Given the description of an element on the screen output the (x, y) to click on. 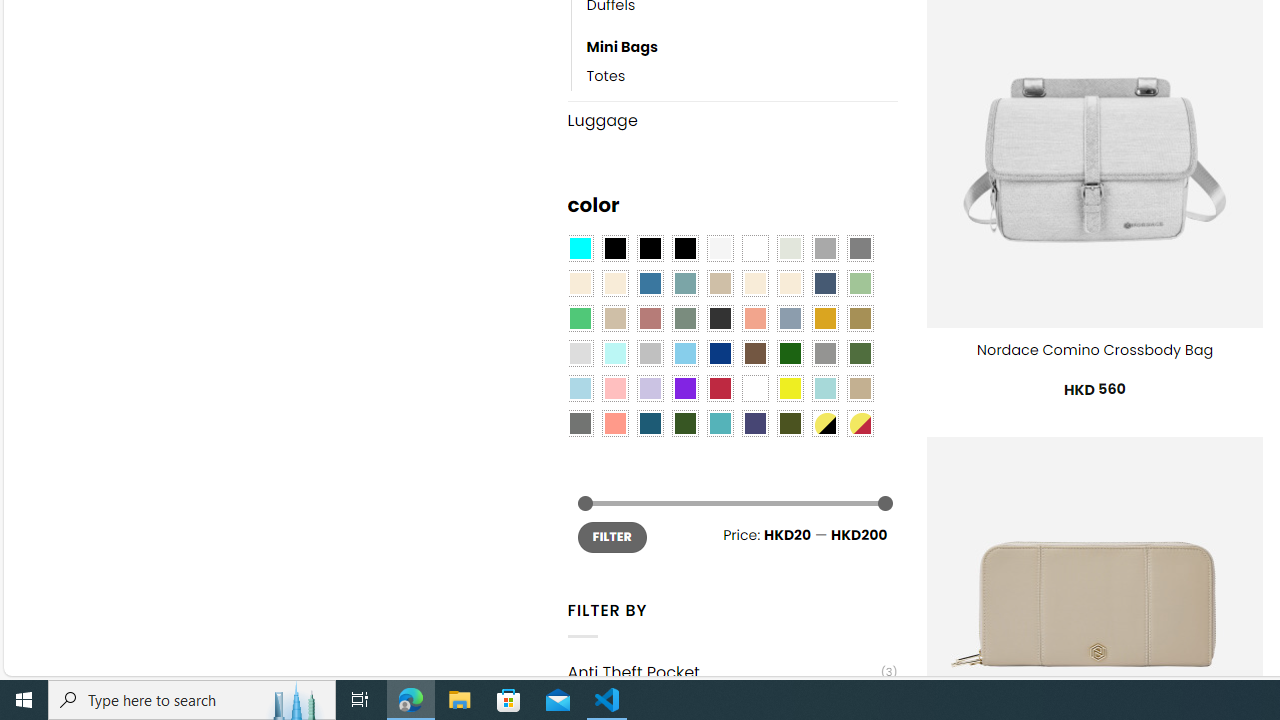
Army Green (789, 424)
Capri Blue (650, 424)
Charcoal (719, 318)
Yellow-Red (859, 424)
